Given the description of an element on the screen output the (x, y) to click on. 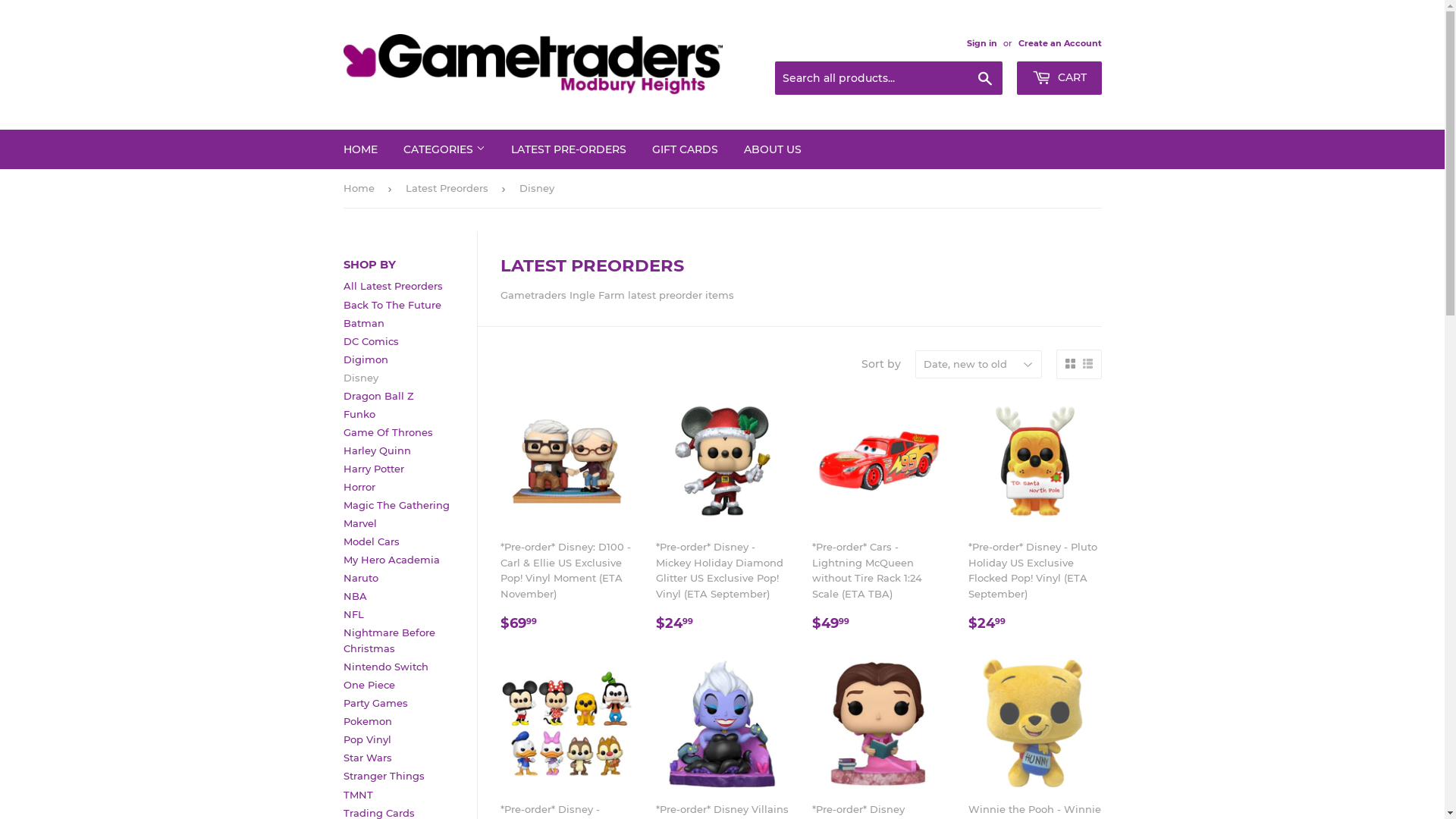
LATEST PRE-ORDERS Element type: text (567, 149)
NBA Element type: text (354, 595)
Latest Preorders Element type: text (448, 188)
Naruto Element type: text (359, 577)
Stranger Things Element type: text (382, 775)
Funko Element type: text (358, 413)
HOME Element type: text (360, 149)
Star Wars Element type: text (366, 757)
GIFT CARDS Element type: text (684, 149)
Horror Element type: text (358, 486)
DC Comics Element type: text (370, 341)
ABOUT US Element type: text (772, 149)
Batman Element type: text (362, 322)
My Hero Academia Element type: text (390, 559)
TMNT Element type: text (357, 794)
Home Element type: text (360, 188)
Nightmare Before Christmas Element type: text (388, 640)
Game Of Thrones Element type: text (387, 432)
Harry Potter Element type: text (372, 468)
One Piece Element type: text (368, 684)
Dragon Ball Z Element type: text (377, 395)
CATEGORIES Element type: text (443, 149)
Grid view Element type: hover (1069, 363)
Marvel Element type: text (359, 523)
Create an Account Element type: text (1059, 42)
Pokemon Element type: text (366, 721)
Nintendo Switch Element type: text (384, 666)
Search Element type: text (984, 78)
CART Element type: text (1058, 77)
All Latest Preorders Element type: text (392, 285)
Harley Quinn Element type: text (376, 450)
Pop Vinyl Element type: text (366, 739)
Sign in Element type: text (981, 42)
Magic The Gathering Element type: text (395, 504)
Party Games Element type: text (374, 702)
Digimon Element type: text (364, 359)
Back To The Future Element type: text (391, 304)
List view Element type: hover (1087, 363)
Model Cars Element type: text (370, 541)
NFL Element type: text (352, 614)
